Given the description of an element on the screen output the (x, y) to click on. 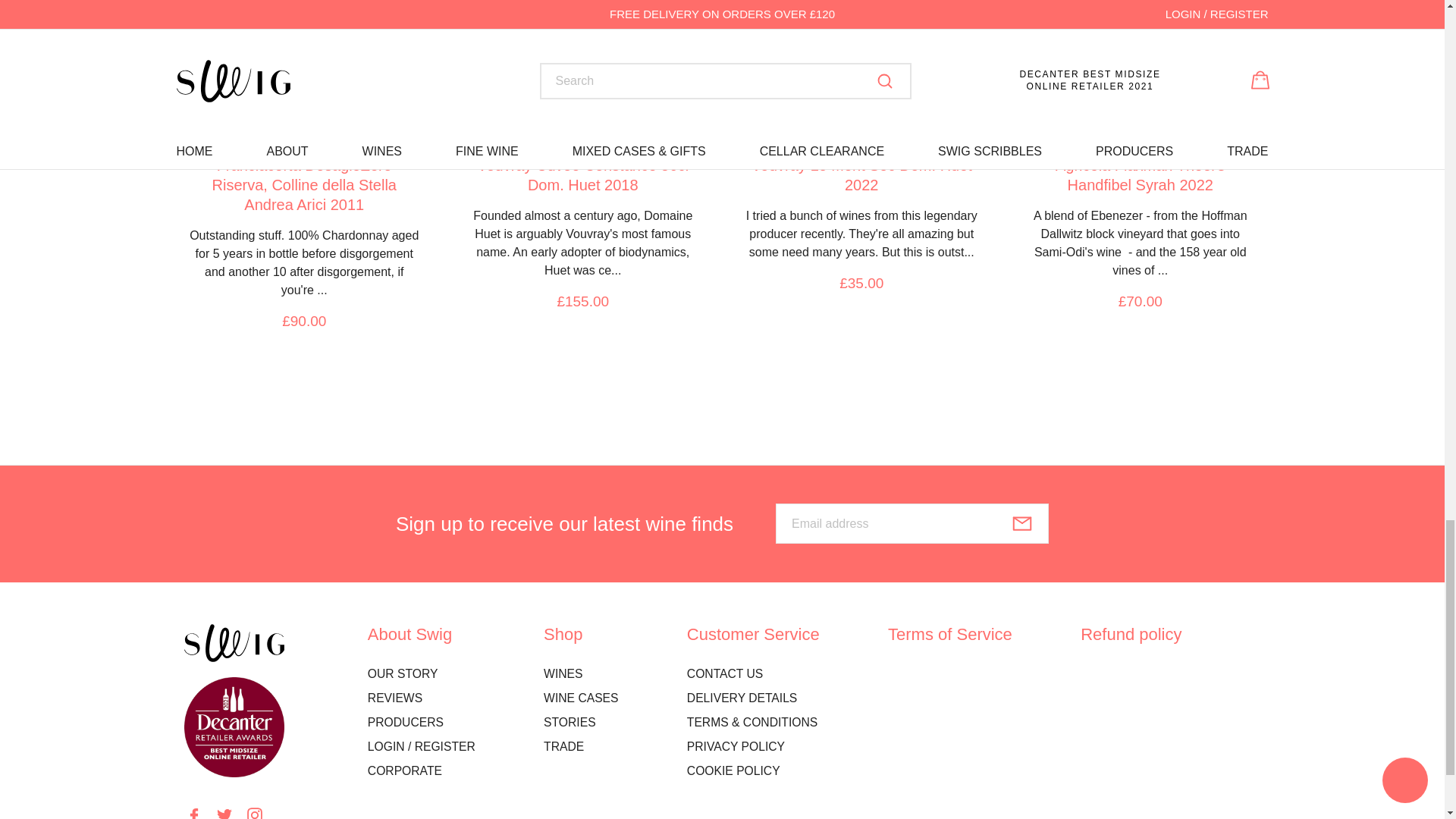
Swig Wines on Facebook (193, 813)
Swig Wines on Twitter (224, 813)
Swig Wines on Instagram (254, 813)
